Given the description of an element on the screen output the (x, y) to click on. 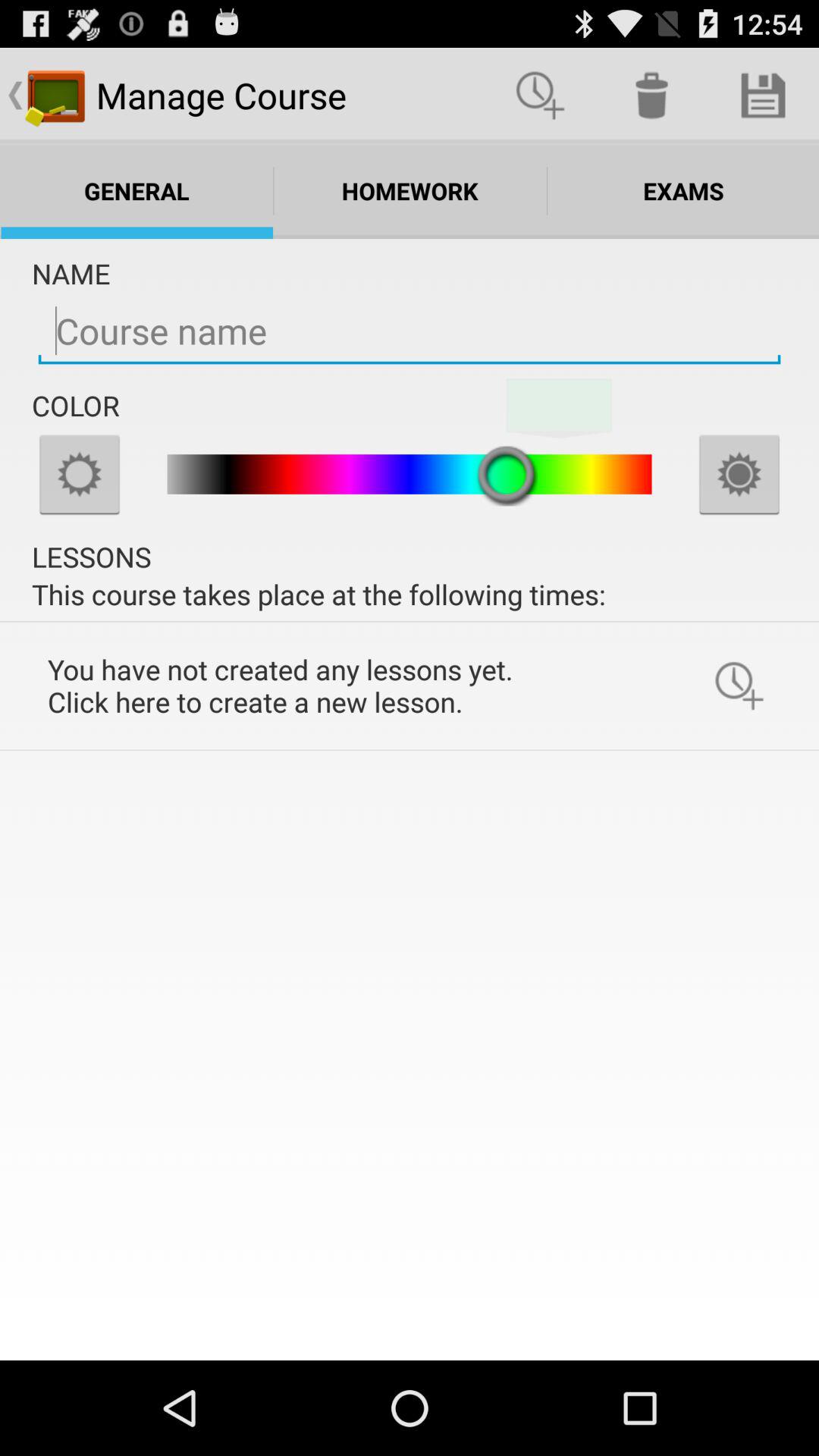
enter the name of course (409, 331)
